Given the description of an element on the screen output the (x, y) to click on. 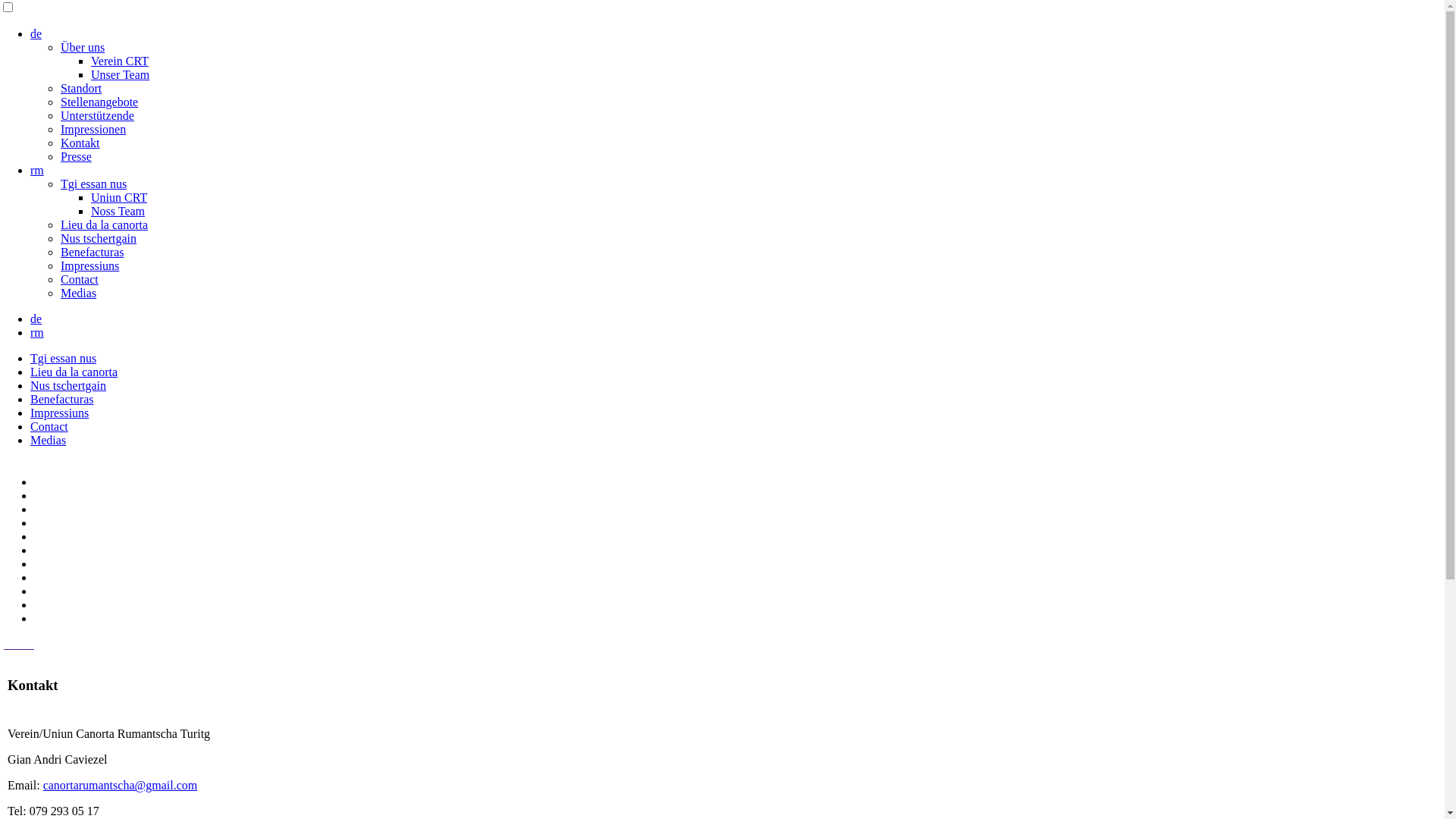
Unser Team Element type: text (120, 74)
Impressiuns Element type: text (89, 265)
Standort Element type: text (80, 87)
canortarumantscha@gmail.com Element type: text (120, 784)
Presse Element type: text (75, 156)
Impressiuns Element type: text (59, 412)
Medias Element type: text (78, 292)
Tgi essan nus Element type: text (93, 183)
Noss Team Element type: text (117, 210)
de Element type: text (35, 33)
rm Element type: text (36, 332)
Stellenangebote Element type: text (99, 101)
Verein CRT Element type: text (119, 60)
Benefacturas Element type: text (92, 251)
Medias Element type: text (47, 439)
Lieu da la canorta Element type: text (103, 224)
de Element type: text (35, 318)
Uniun CRT Element type: text (119, 197)
Benefacturas Element type: text (62, 398)
Contact Element type: text (49, 426)
Nus tschertgain Element type: text (98, 238)
rm Element type: text (36, 169)
Tgi essan nus Element type: text (63, 357)
Impressionen Element type: text (92, 128)
Kontakt Element type: text (80, 142)
Nus tschertgain Element type: text (68, 385)
Contact Element type: text (79, 279)
Lieu da la canorta Element type: text (73, 371)
